Given the description of an element on the screen output the (x, y) to click on. 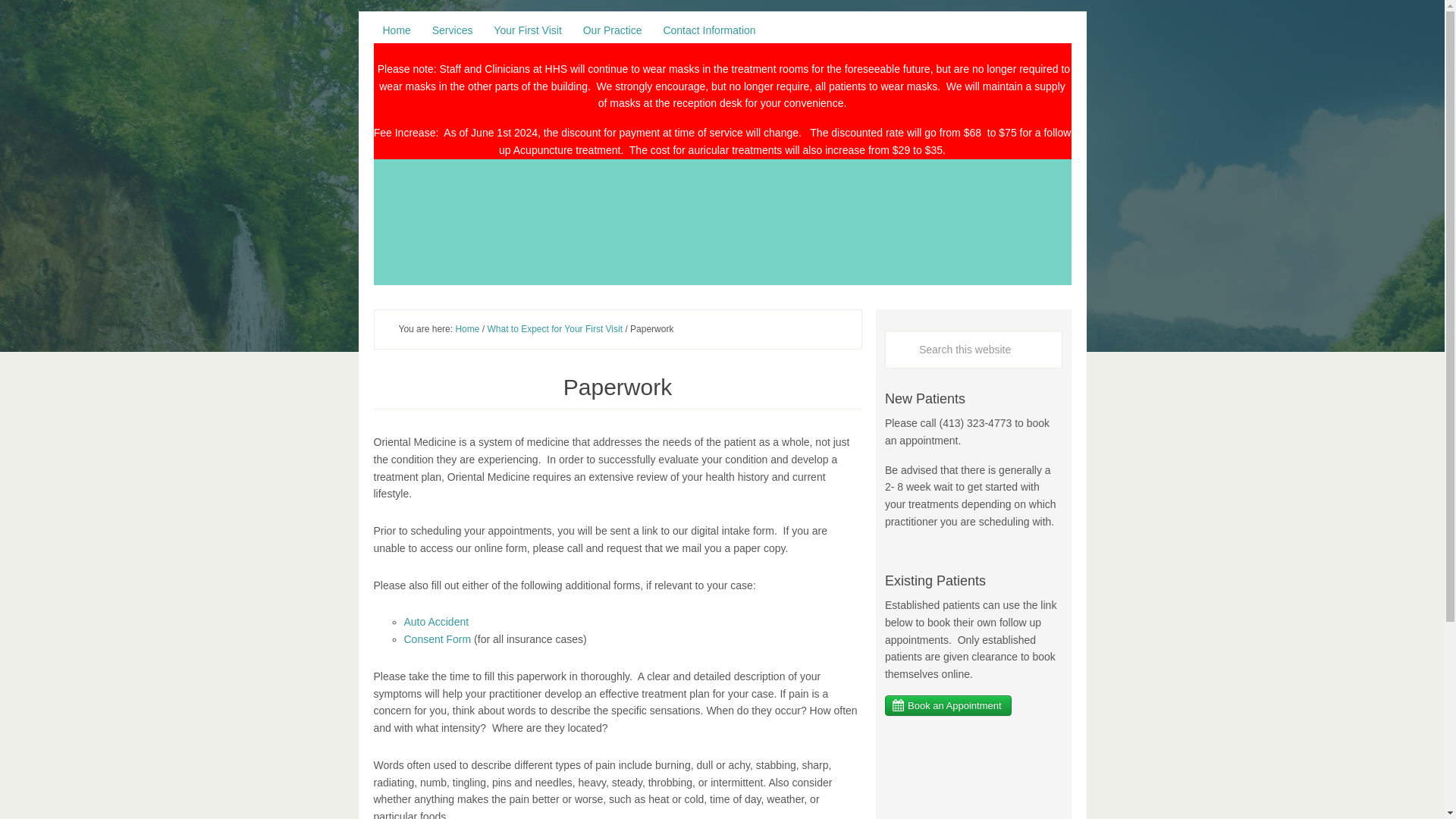
Consent Form (436, 639)
Auto Accident (435, 621)
Home (395, 30)
Your First Visit (527, 30)
What to Expect for Your First Visit (554, 327)
Our Practice (611, 30)
Contact Information (708, 30)
Holistic Healthcare Services, Inc. (721, 228)
Services (452, 30)
Home (466, 327)
